Given the description of an element on the screen output the (x, y) to click on. 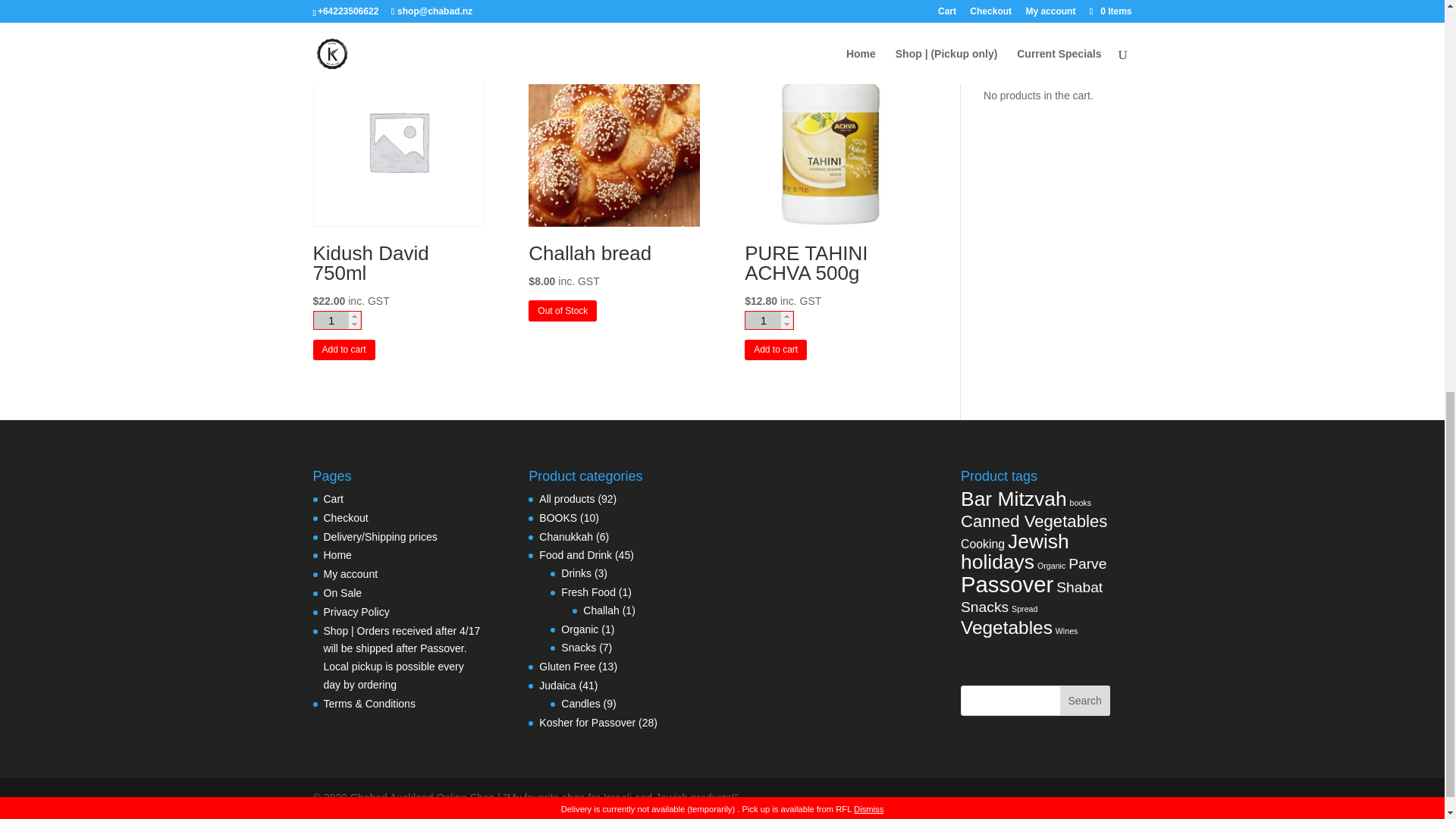
Add to cart (775, 350)
Out of Stock (562, 310)
1 (337, 320)
Add to cart (343, 350)
1 (768, 320)
Search (1084, 700)
